Given the description of an element on the screen output the (x, y) to click on. 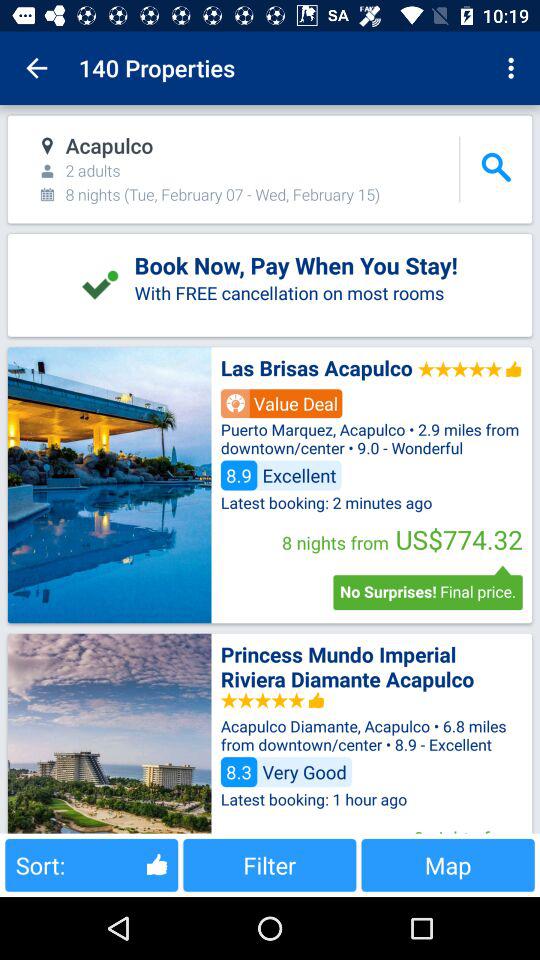
choose the button next to filter icon (447, 864)
